Given the description of an element on the screen output the (x, y) to click on. 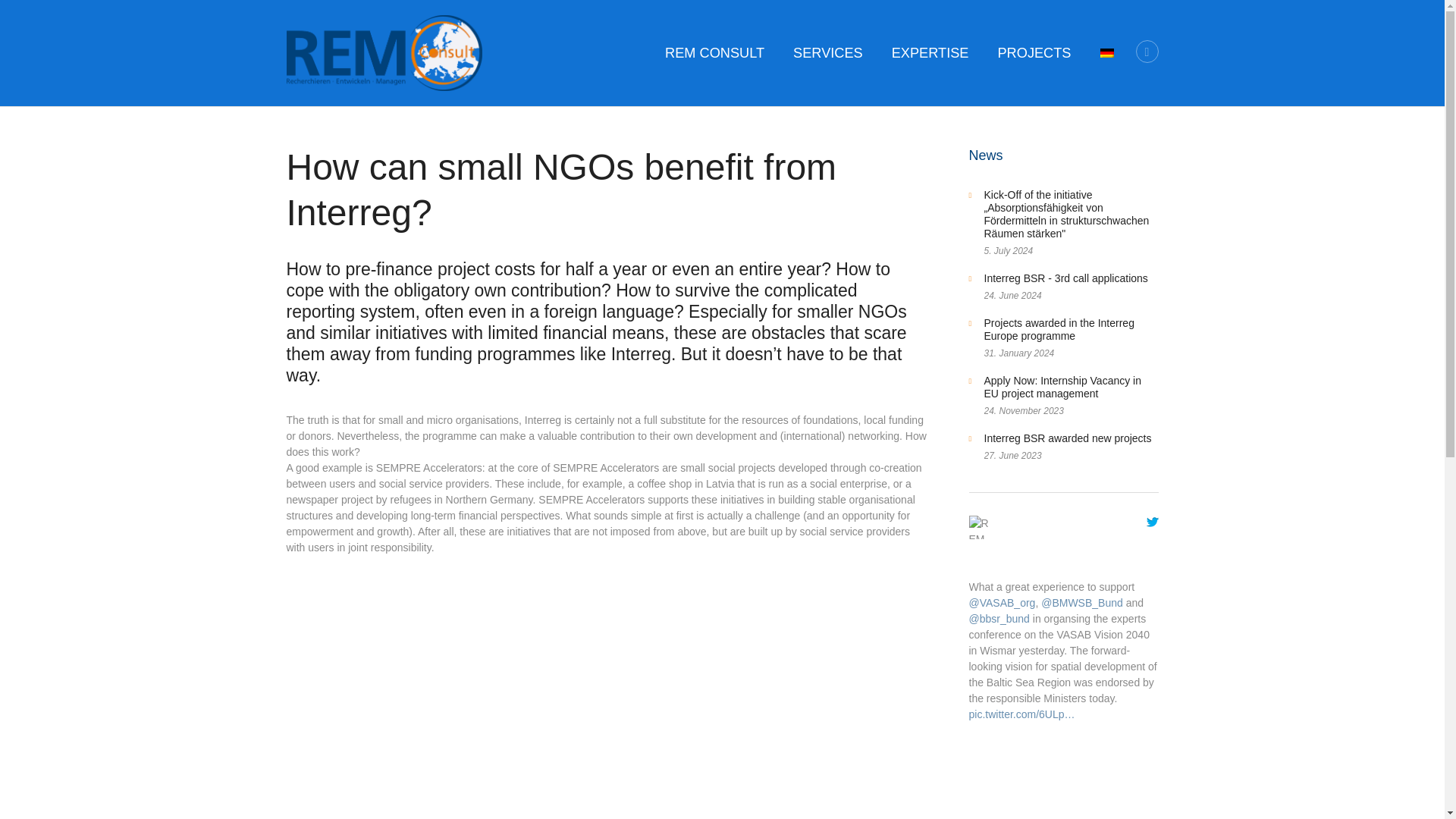
SERVICES (827, 52)
VASAB (1002, 603)
Bundesbauministerium (1081, 603)
BBSR (999, 618)
REM Consult (980, 571)
REM CONSULT (714, 52)
EXPERTISE (930, 52)
